Given the description of an element on the screen output the (x, y) to click on. 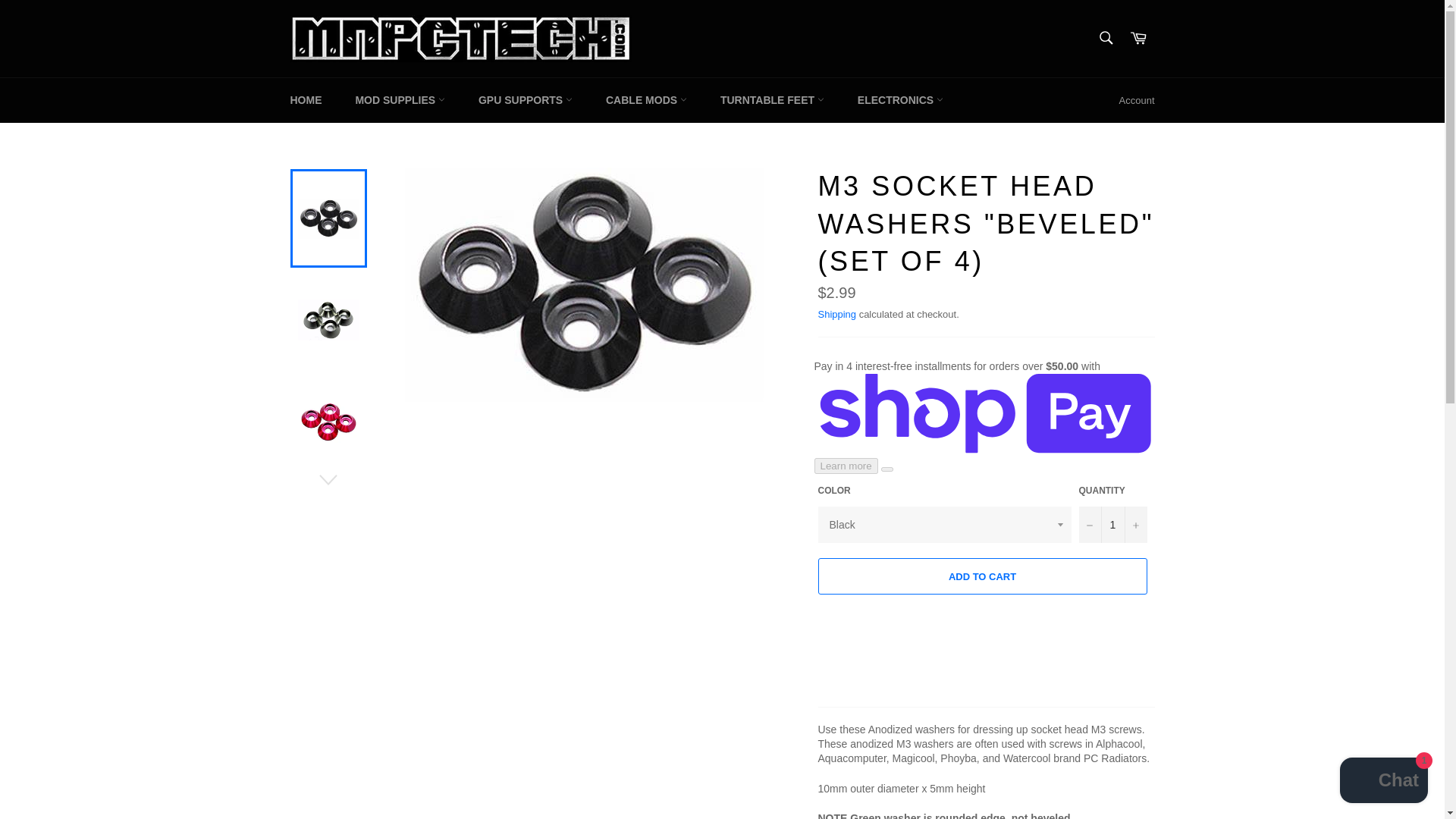
Shopify online store chat (1383, 781)
1 (1112, 524)
